Given the description of an element on the screen output the (x, y) to click on. 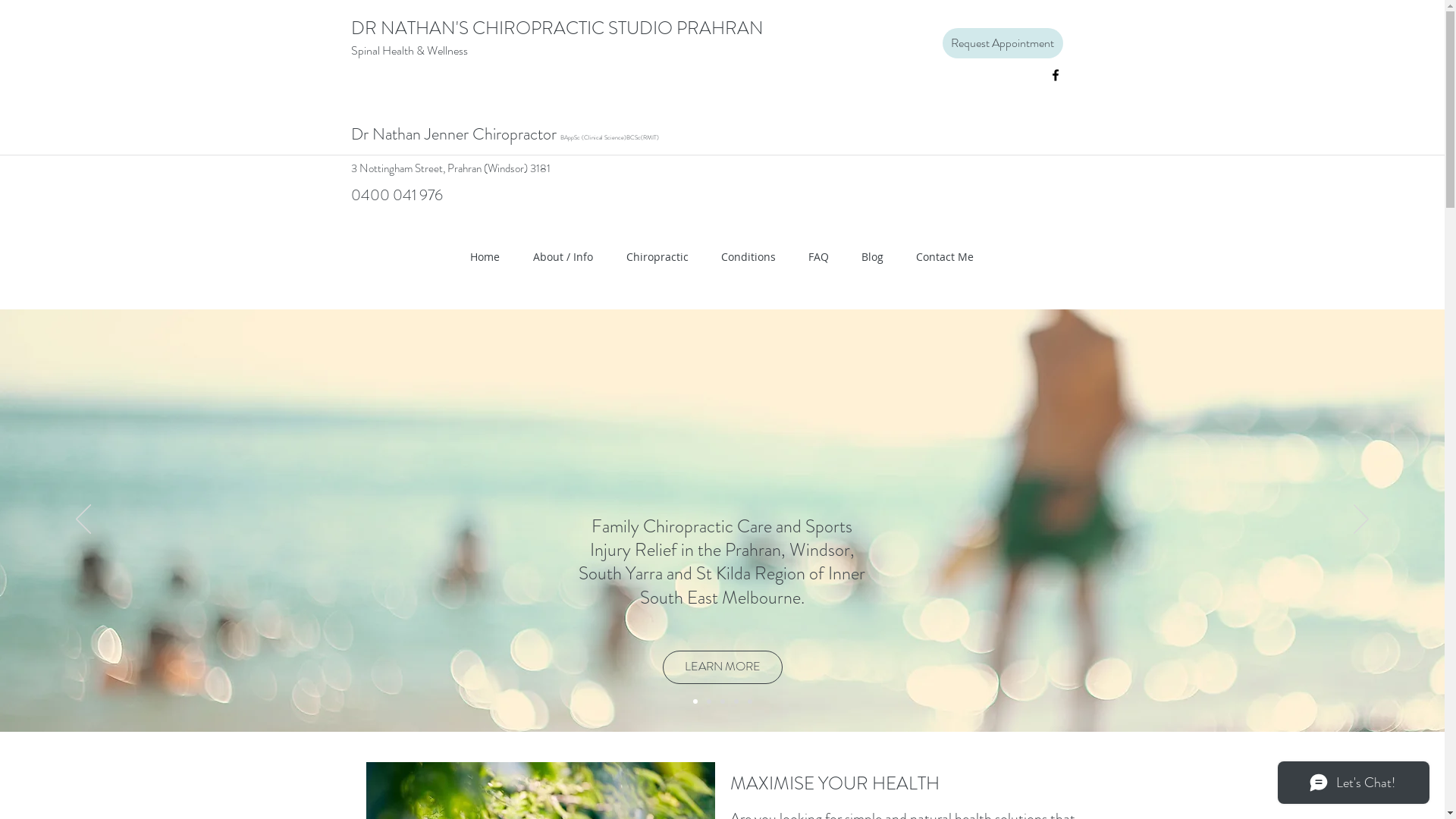
Request Appointment Element type: text (1001, 43)
Home Element type: text (484, 257)
Blog Element type: text (871, 257)
Embedded Content Element type: hover (437, 149)
Site Search Element type: hover (1002, 136)
Contact Me Element type: text (944, 257)
FAQ Element type: text (817, 257)
LEARN MORE Element type: text (722, 667)
